Given the description of an element on the screen output the (x, y) to click on. 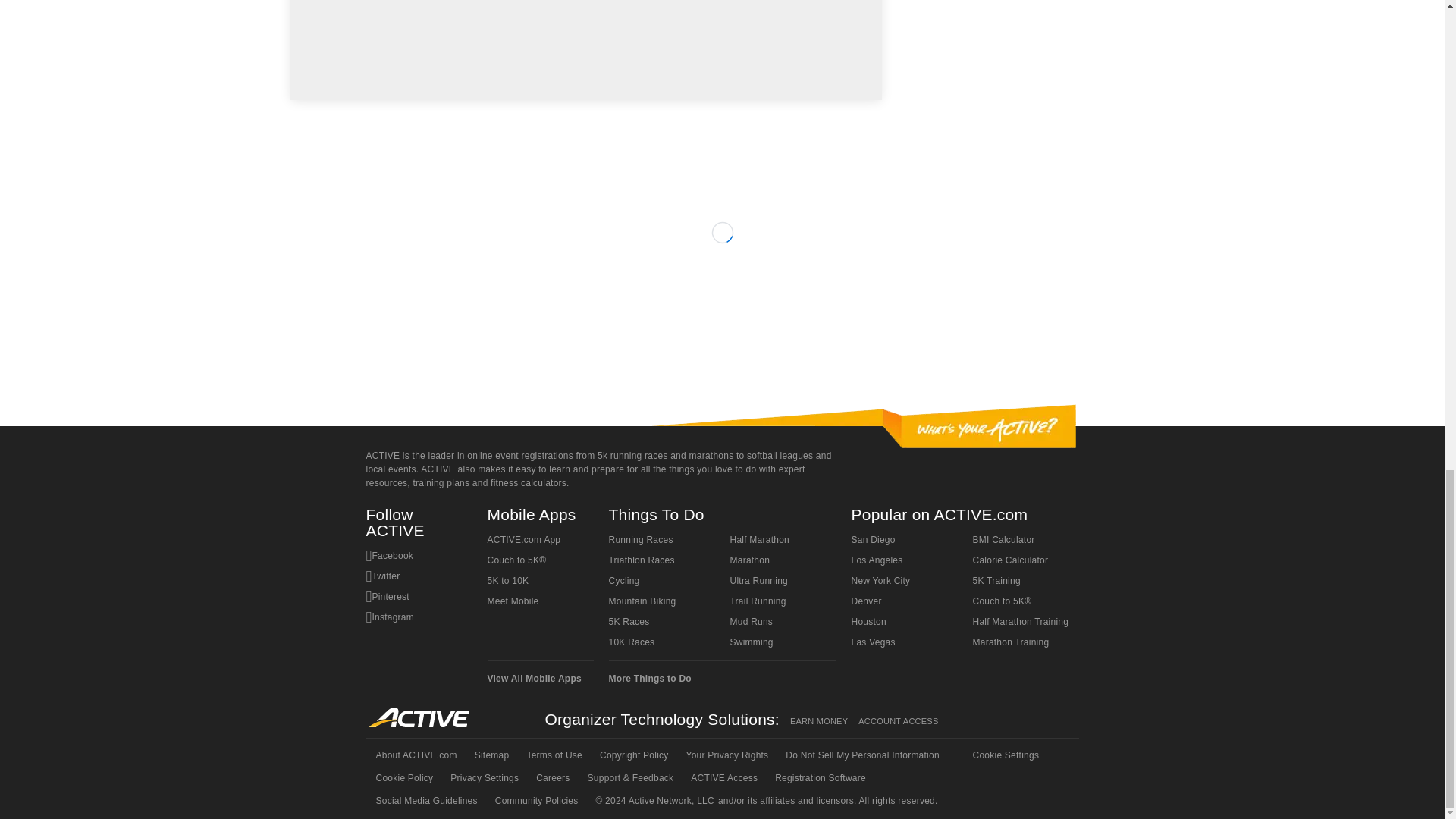
Terms of Use (552, 754)
Careers at Active (550, 777)
Privacy Settings (483, 777)
Do Not Sell My Personal Information (861, 754)
Copyright Policy (633, 754)
Your Privacy Rights: Updated (726, 754)
Cookie Policy (403, 777)
